Given the description of an element on the screen output the (x, y) to click on. 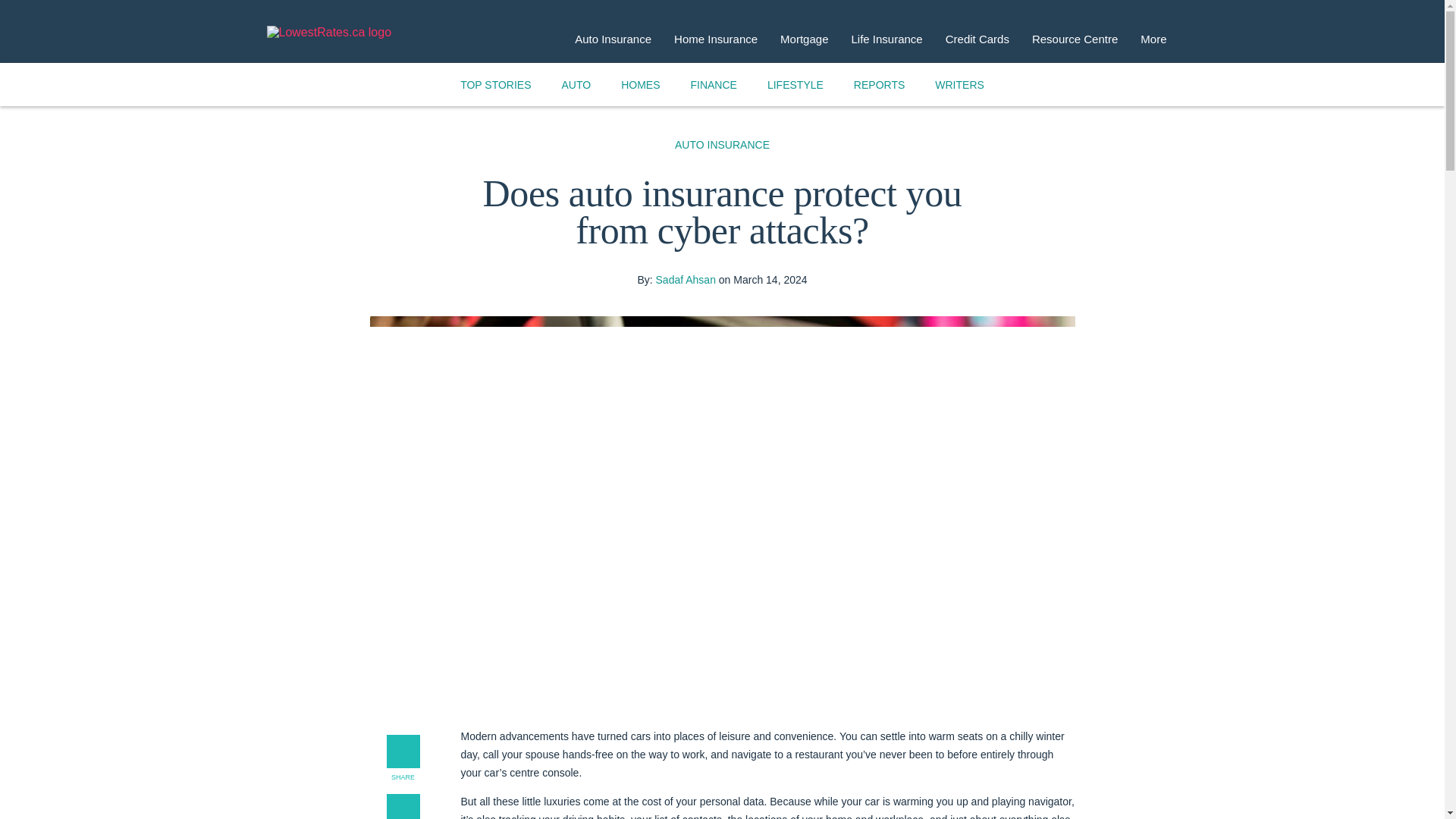
Auto Insurance (612, 39)
More (1153, 39)
Credit Cards (977, 39)
FINANCE (713, 84)
Resource Centre (1074, 39)
Home Insurance (715, 39)
AUTO (575, 84)
Mortgage (804, 39)
TOP STORIES (495, 84)
Life Insurance (886, 39)
HOMES (640, 84)
